Given the description of an element on the screen output the (x, y) to click on. 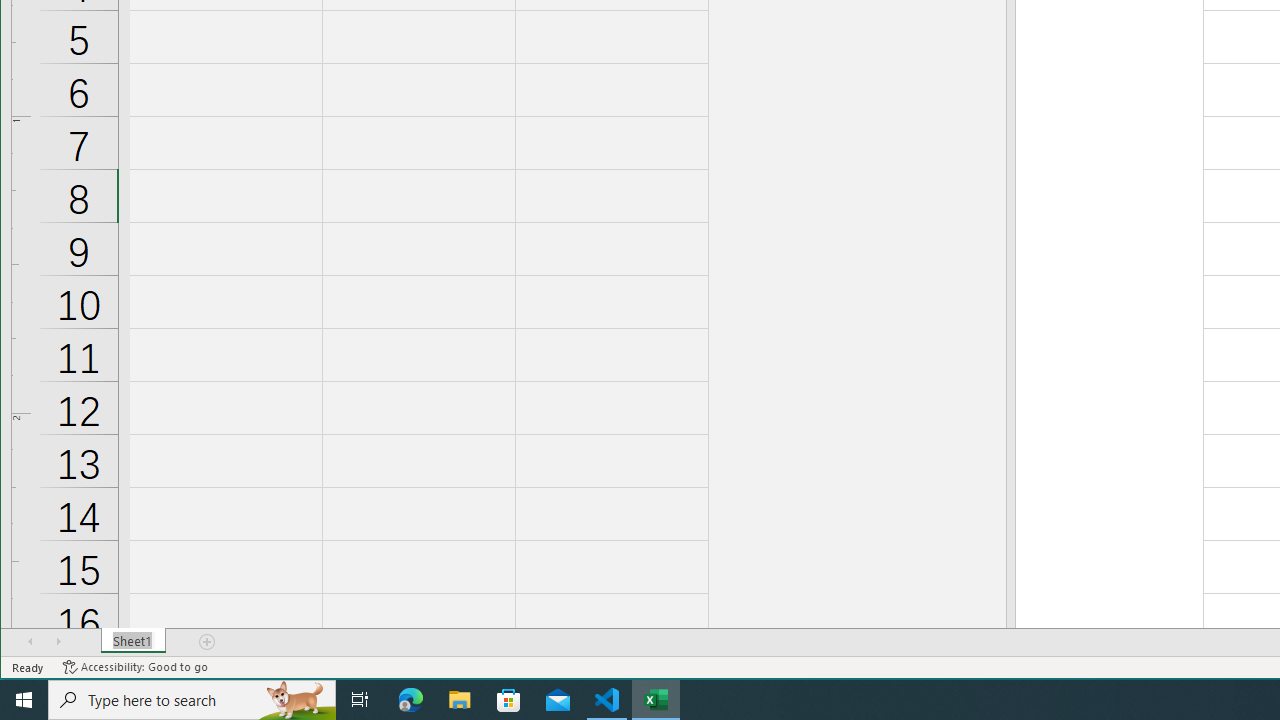
Microsoft Store (509, 699)
File Explorer (460, 699)
Type here to search (191, 699)
Task View (359, 699)
Start (24, 699)
Search highlights icon opens search home window (295, 699)
Sheet Tab (133, 641)
Excel - 1 running window (656, 699)
Visual Studio Code - 1 running window (607, 699)
